Given the description of an element on the screen output the (x, y) to click on. 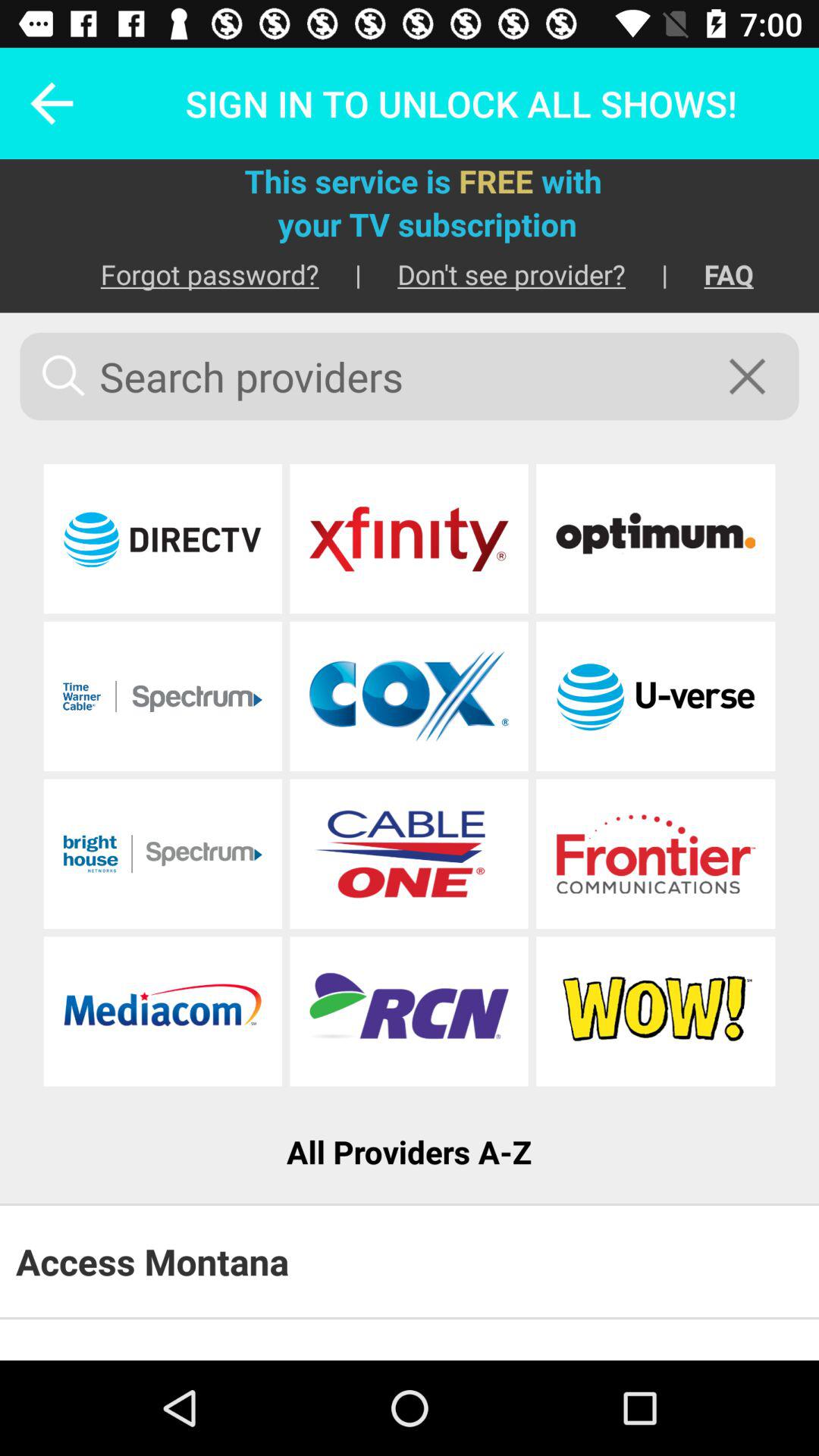
launch item to the left of the | item (191, 273)
